Given the description of an element on the screen output the (x, y) to click on. 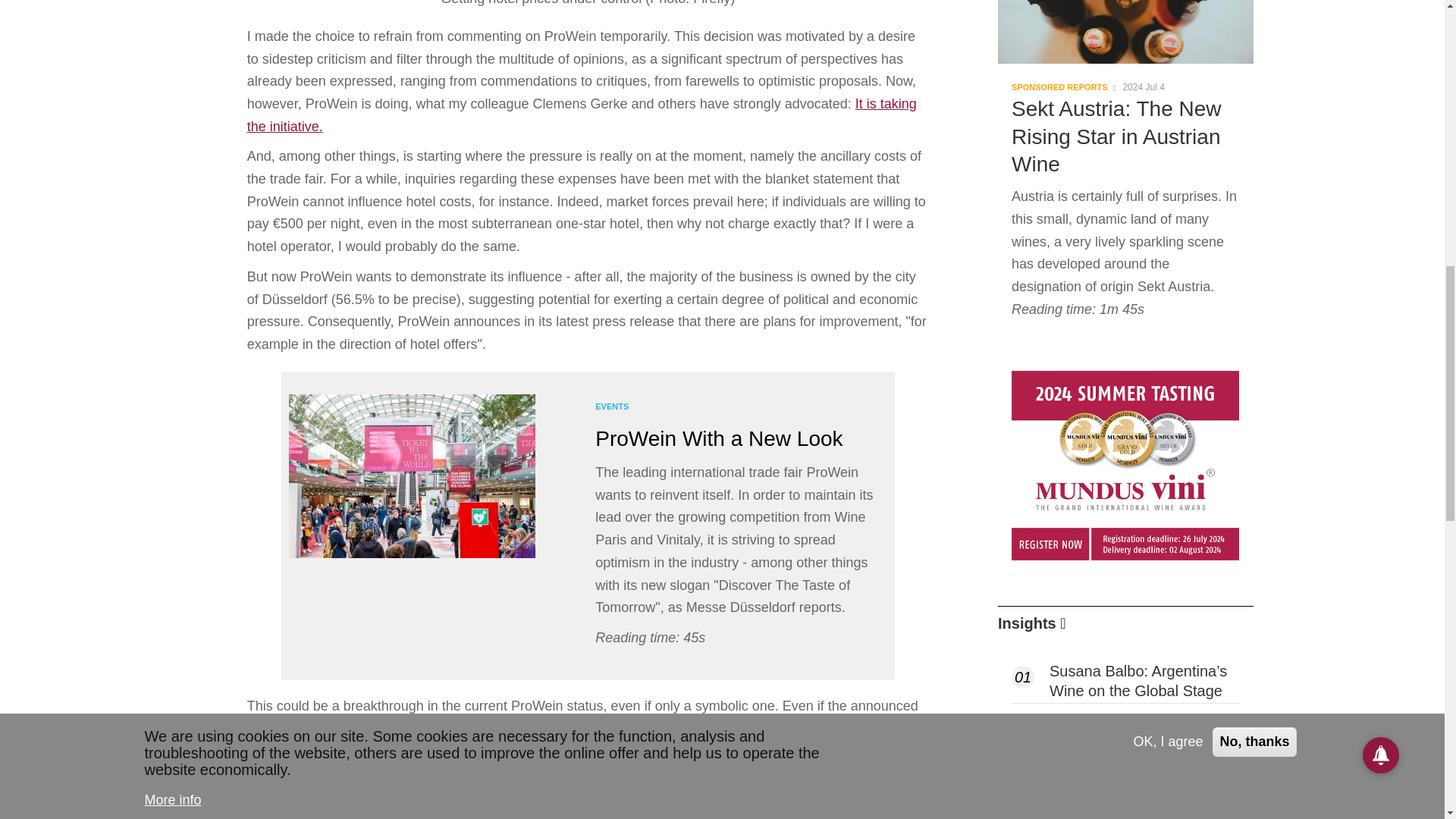
It is taking the initiative. (582, 115)
EVENTS (611, 406)
ProWein With a New Look (719, 438)
